Given the description of an element on the screen output the (x, y) to click on. 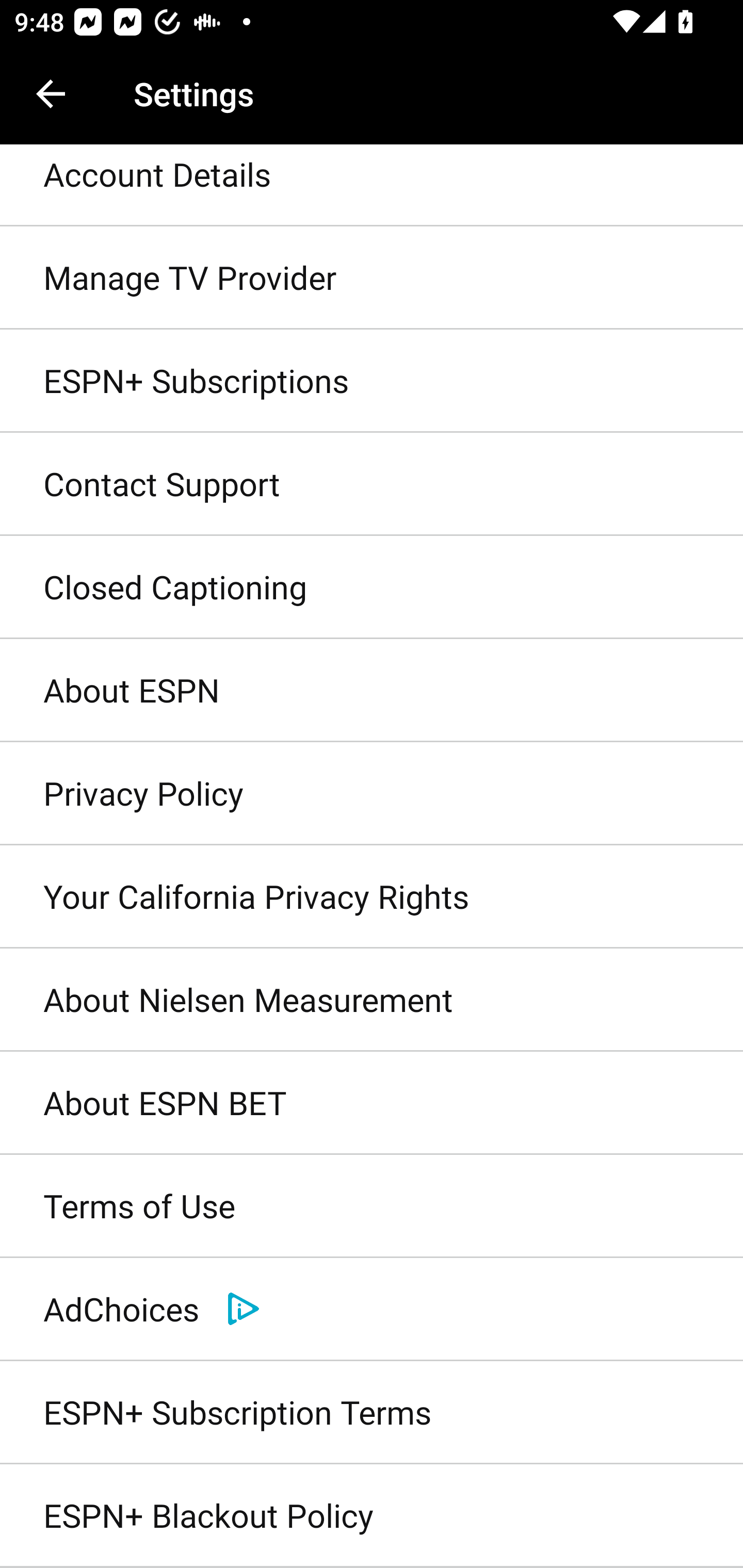
Navigate up (50, 93)
Account Details (371, 185)
Manage TV Provider (371, 277)
ESPN+ Subscriptions (371, 380)
Contact Support (371, 484)
Closed Captioning (371, 587)
About ESPN (371, 691)
Privacy Policy (371, 793)
Your California Privacy Rights (371, 896)
About Nielsen Measurement (371, 1000)
About ESPN BET (371, 1103)
Terms of Use (371, 1207)
AdChoices (371, 1309)
ESPN+ Subscription Terms (371, 1412)
ESPN+ Blackout Policy (371, 1516)
